Given the description of an element on the screen output the (x, y) to click on. 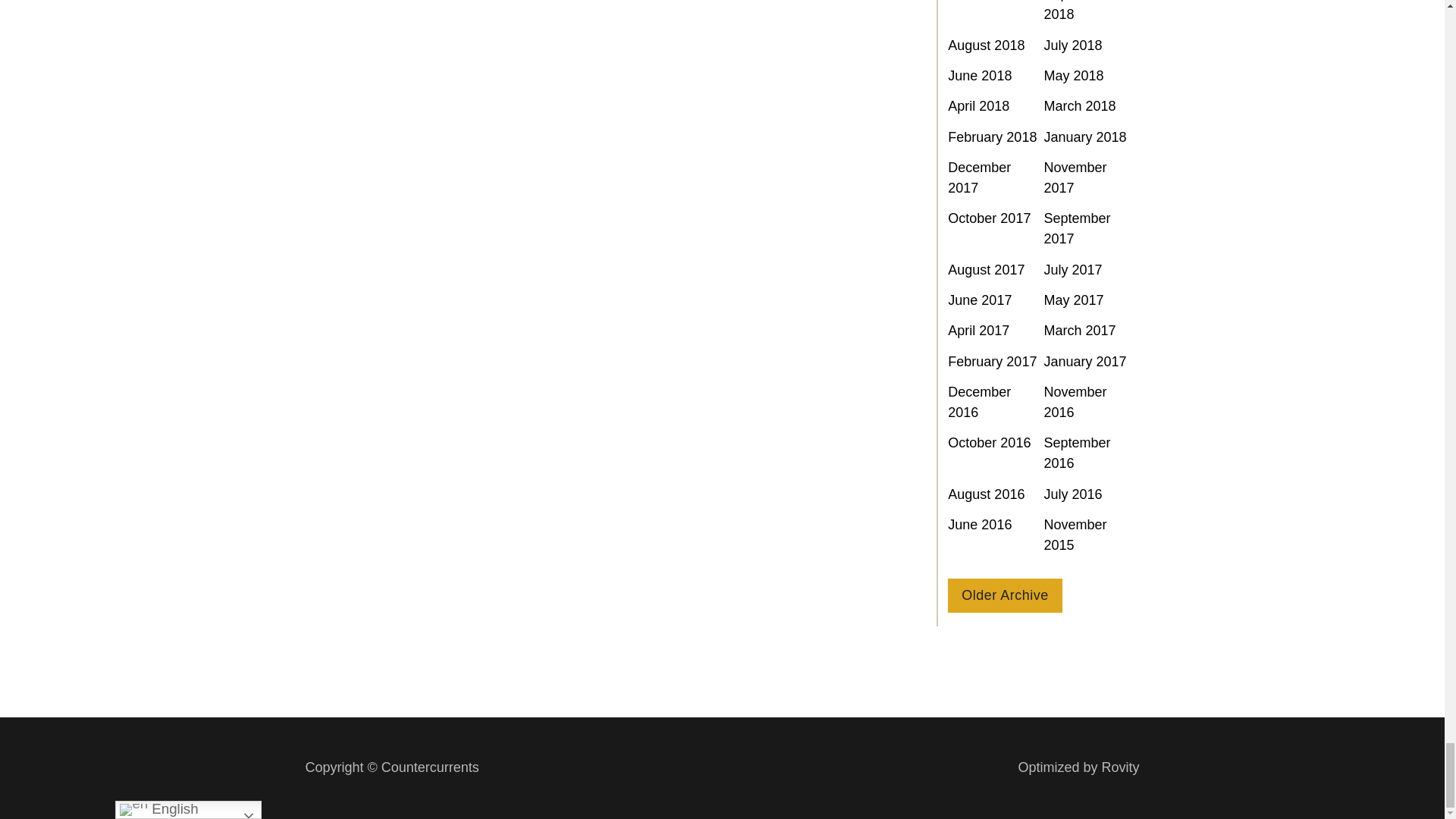
Rovity (1077, 767)
